Given the description of an element on the screen output the (x, y) to click on. 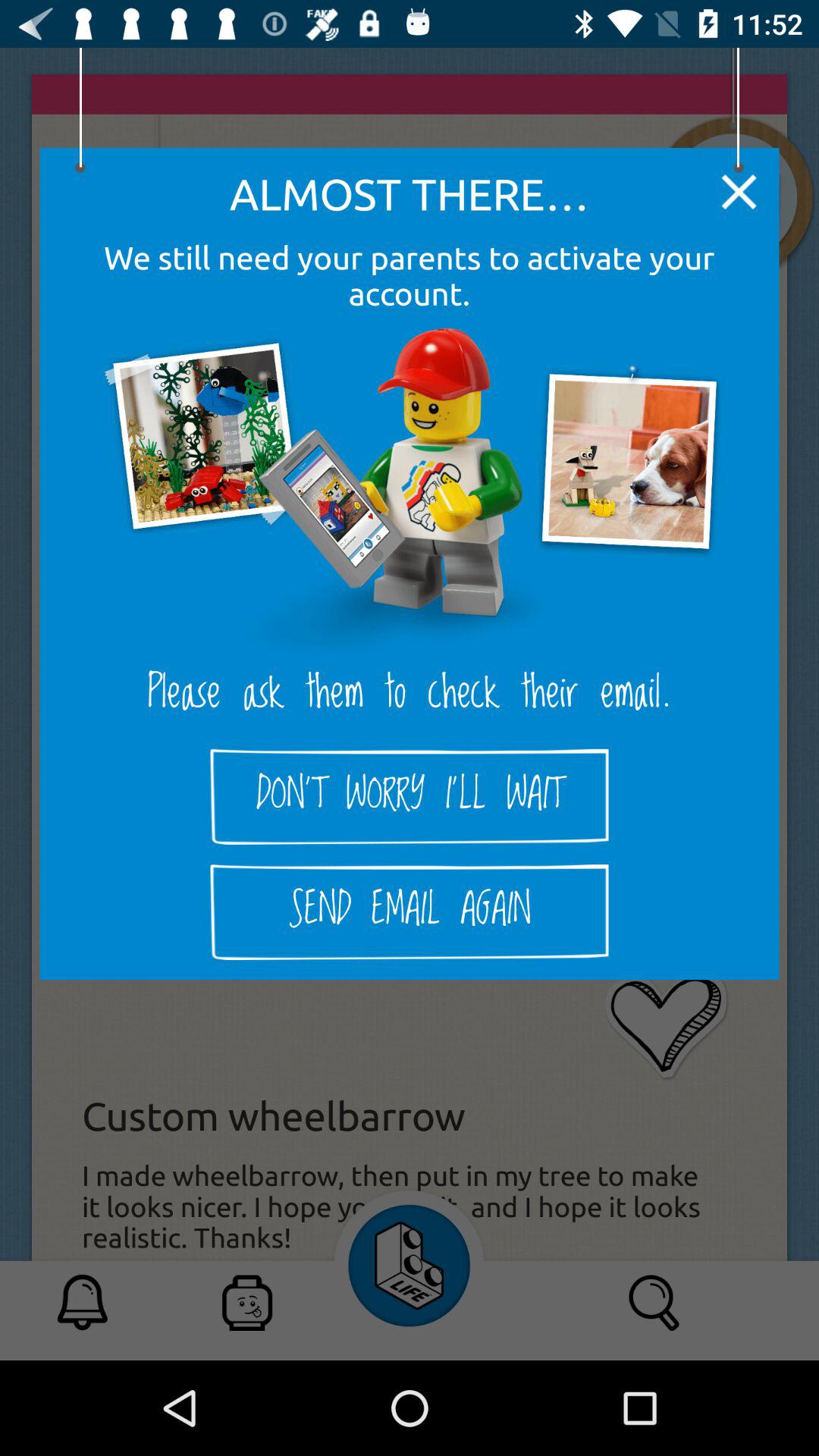
turn off icon above the send email again item (409, 796)
